Given the description of an element on the screen output the (x, y) to click on. 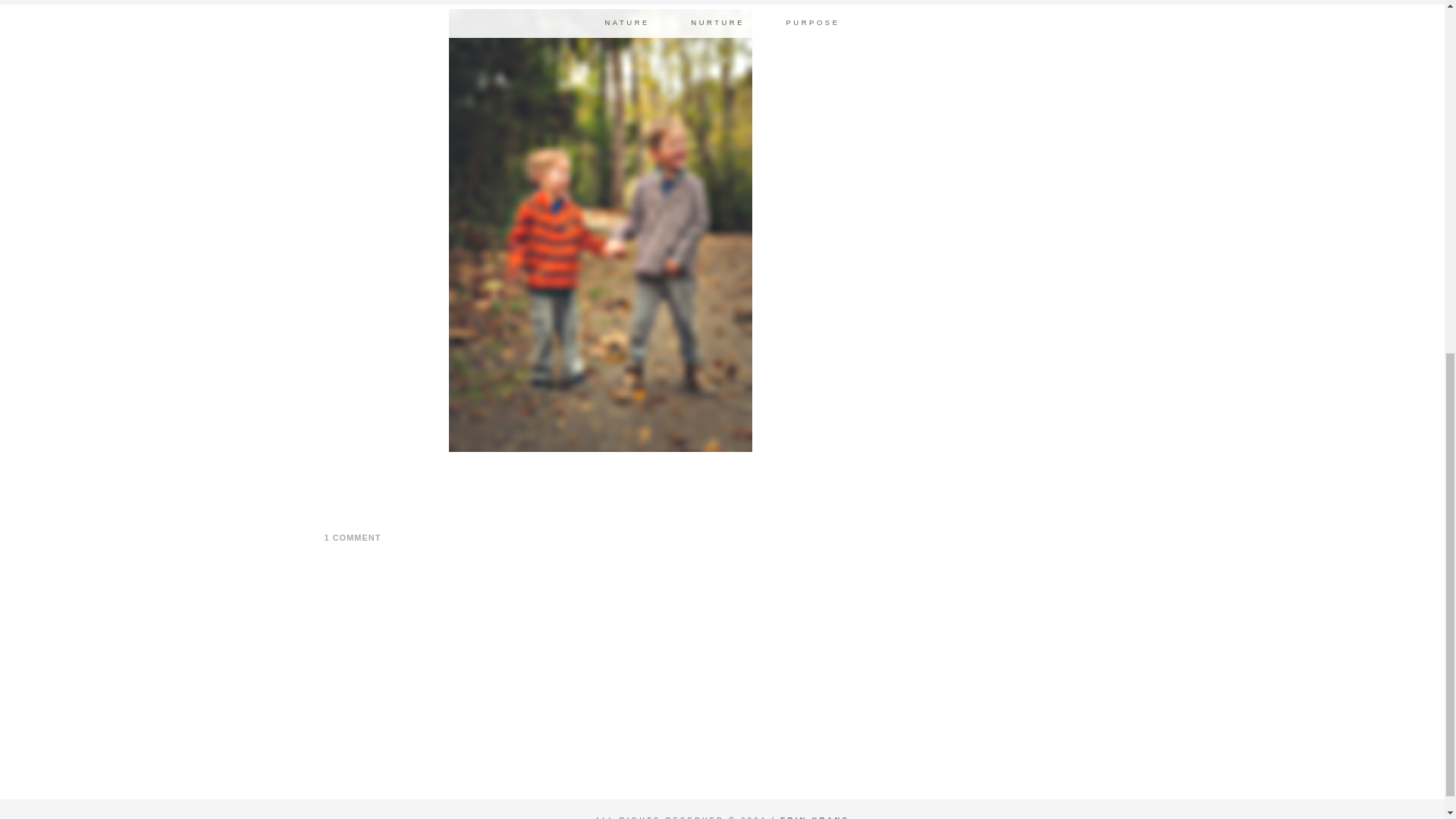
1 COMMENT (352, 536)
